Given the description of an element on the screen output the (x, y) to click on. 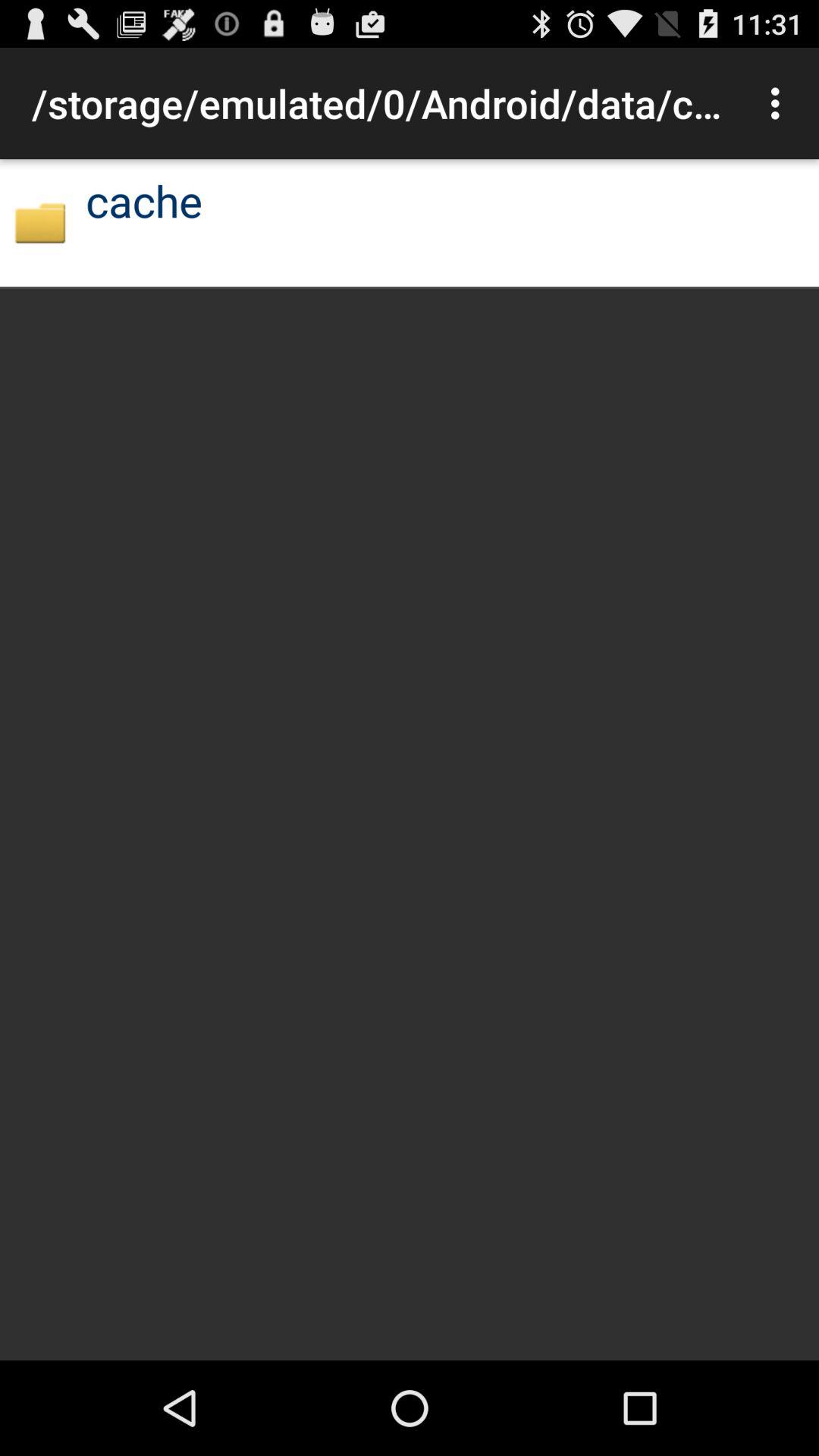
select the item below storage emulated 0 icon (143, 200)
